Given the description of an element on the screen output the (x, y) to click on. 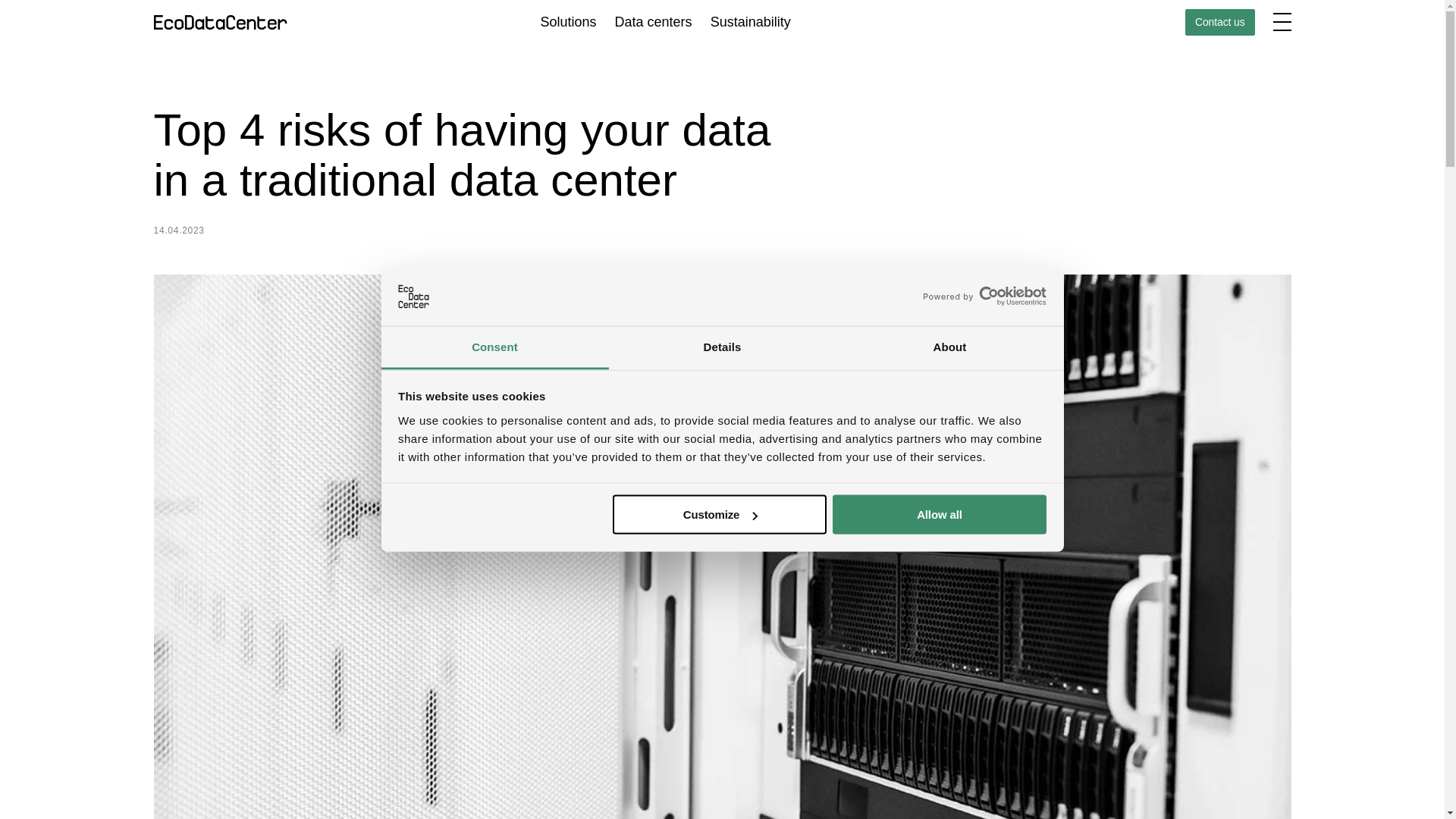
About (948, 347)
EcoDataCenter (224, 22)
Consent (494, 347)
Details (721, 347)
